Given the description of an element on the screen output the (x, y) to click on. 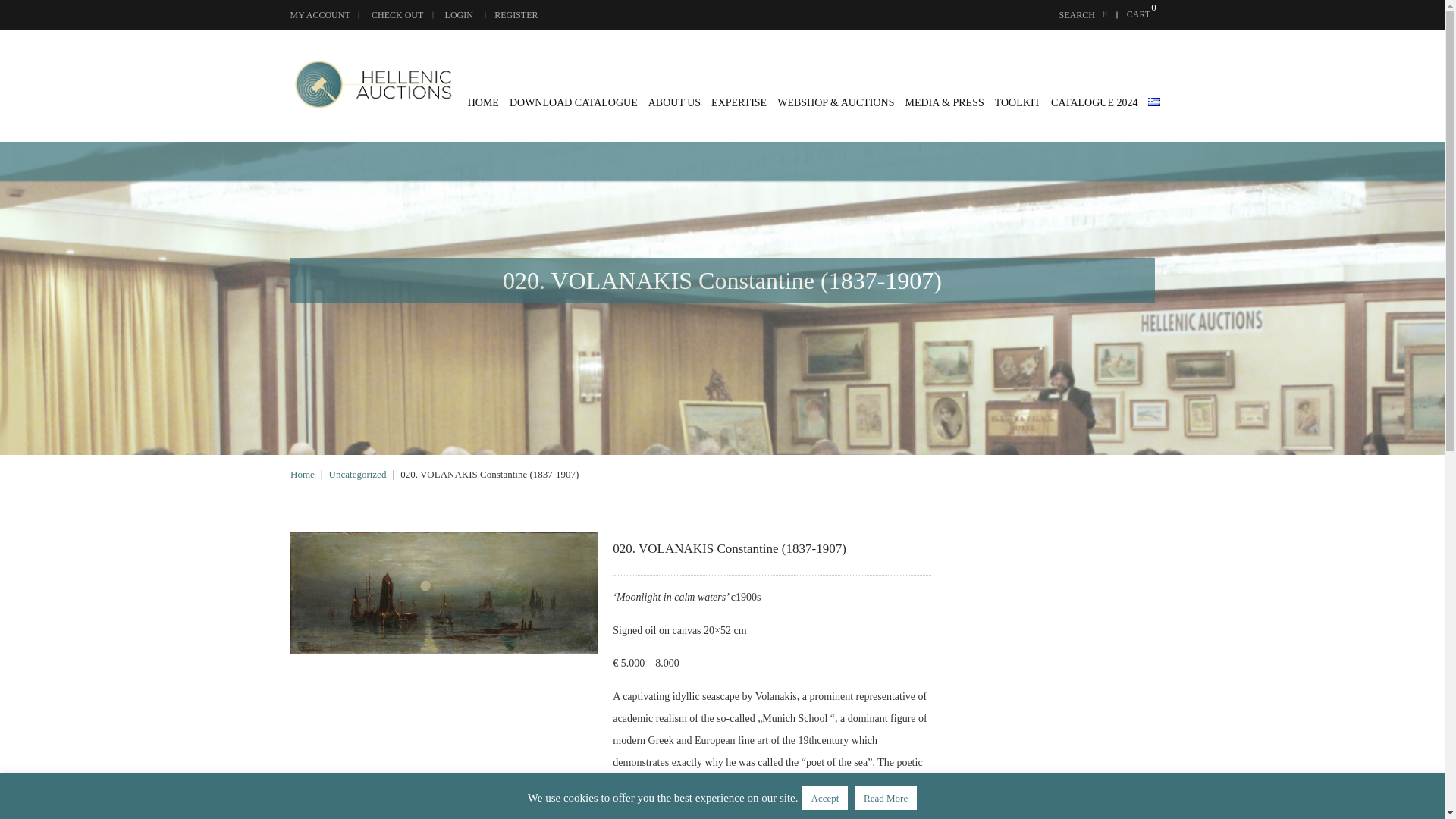
0 (1141, 8)
LOGIN (459, 14)
DOWNLOAD CATALOGUE (573, 102)
MY ACCOUNT (319, 14)
CATALOGUE 2024 (1094, 102)
CHECK OUT (397, 14)
EXPERTISE (739, 102)
Uncategorized (358, 473)
REGISTER (516, 14)
Home (301, 473)
